Given the description of an element on the screen output the (x, y) to click on. 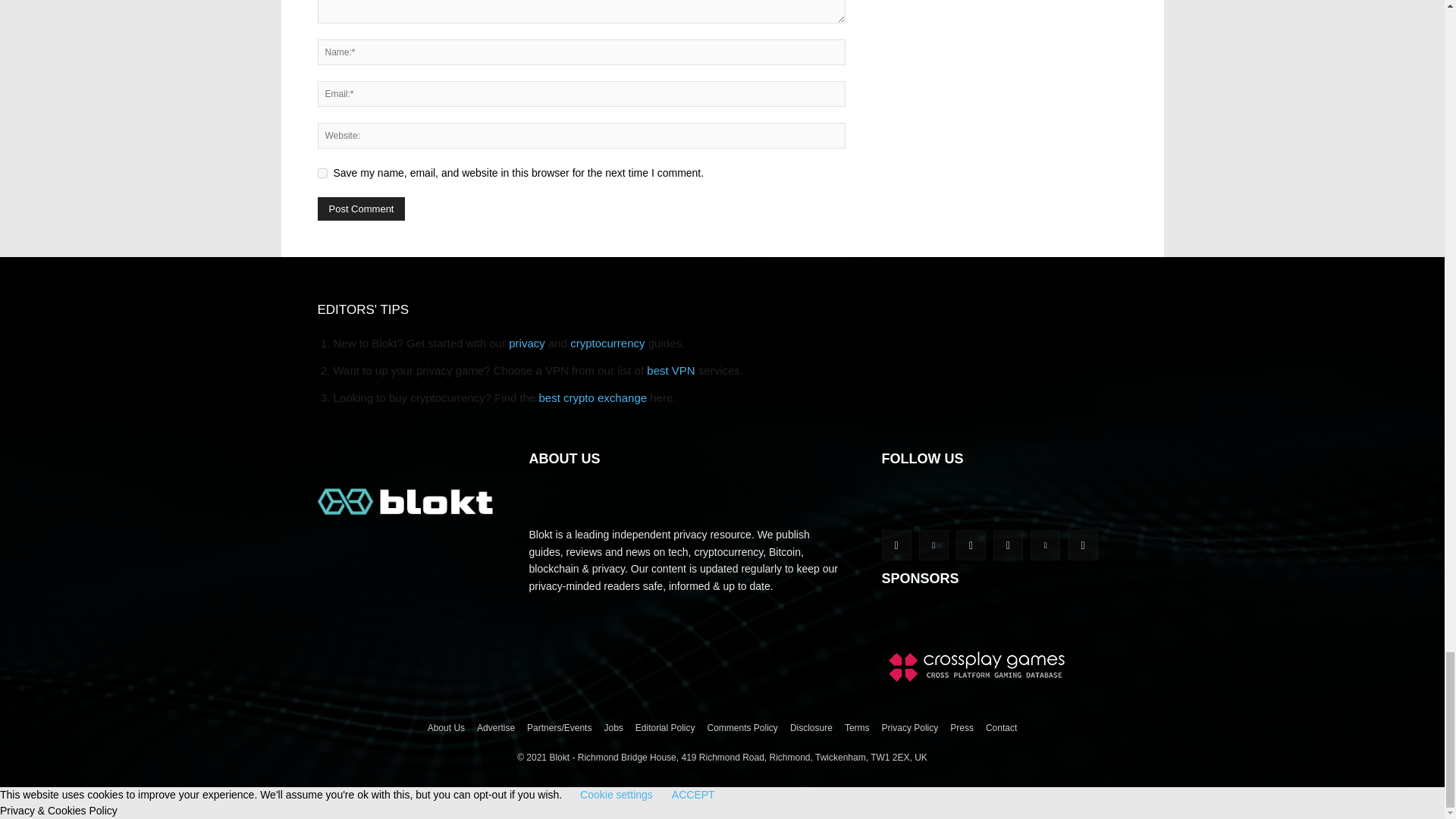
yes (321, 173)
Post Comment (360, 208)
